Given the description of an element on the screen output the (x, y) to click on. 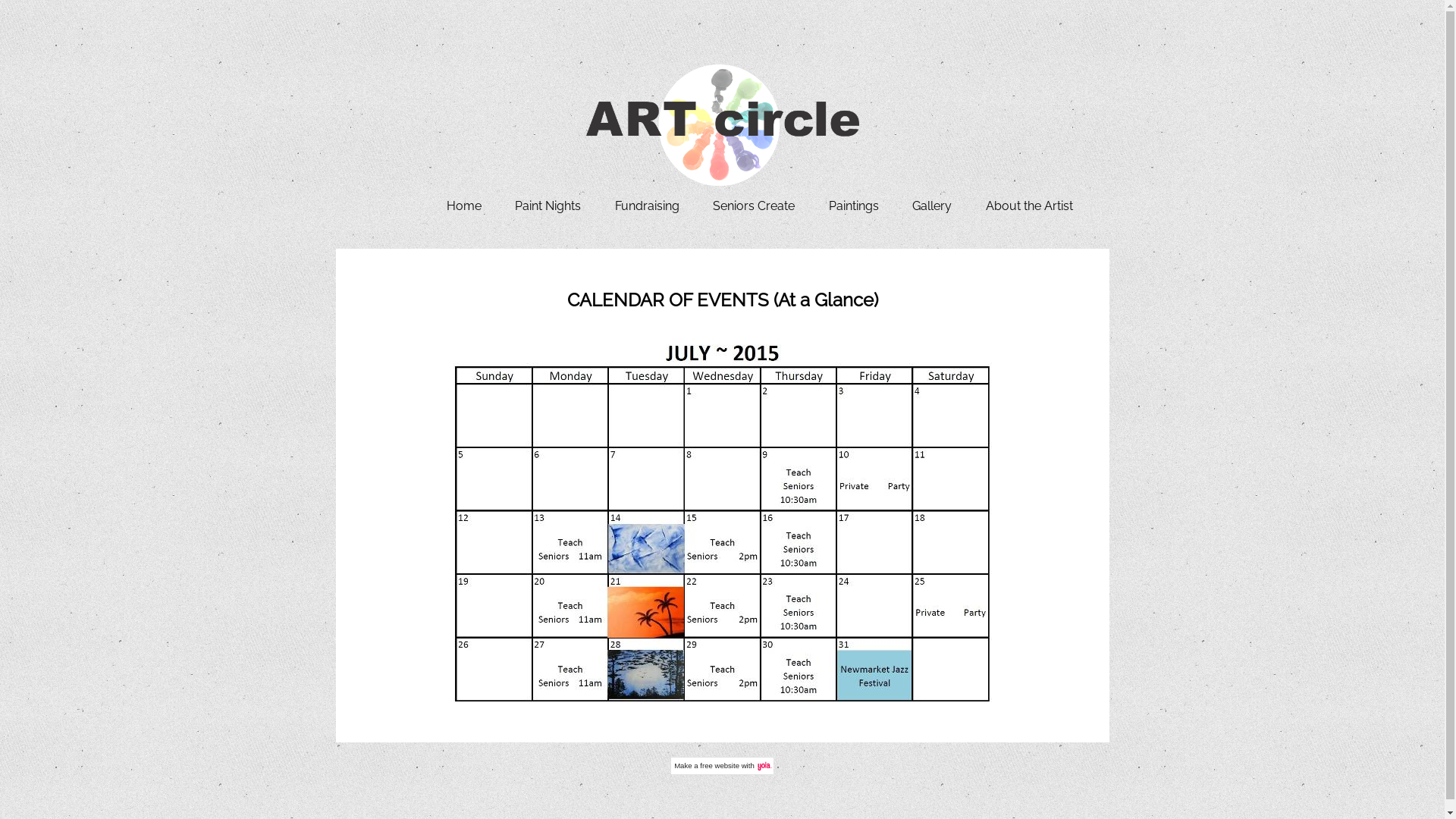
Fundraising Element type: text (647, 205)
free website Element type: text (719, 765)
Paintings Element type: text (853, 205)
About the Artist Element type: text (1029, 205)
Paint Nights Element type: text (547, 205)
Gallery Element type: text (931, 205)
Home Element type: text (463, 205)
Seniors Create Element type: text (753, 205)
